Given the description of an element on the screen output the (x, y) to click on. 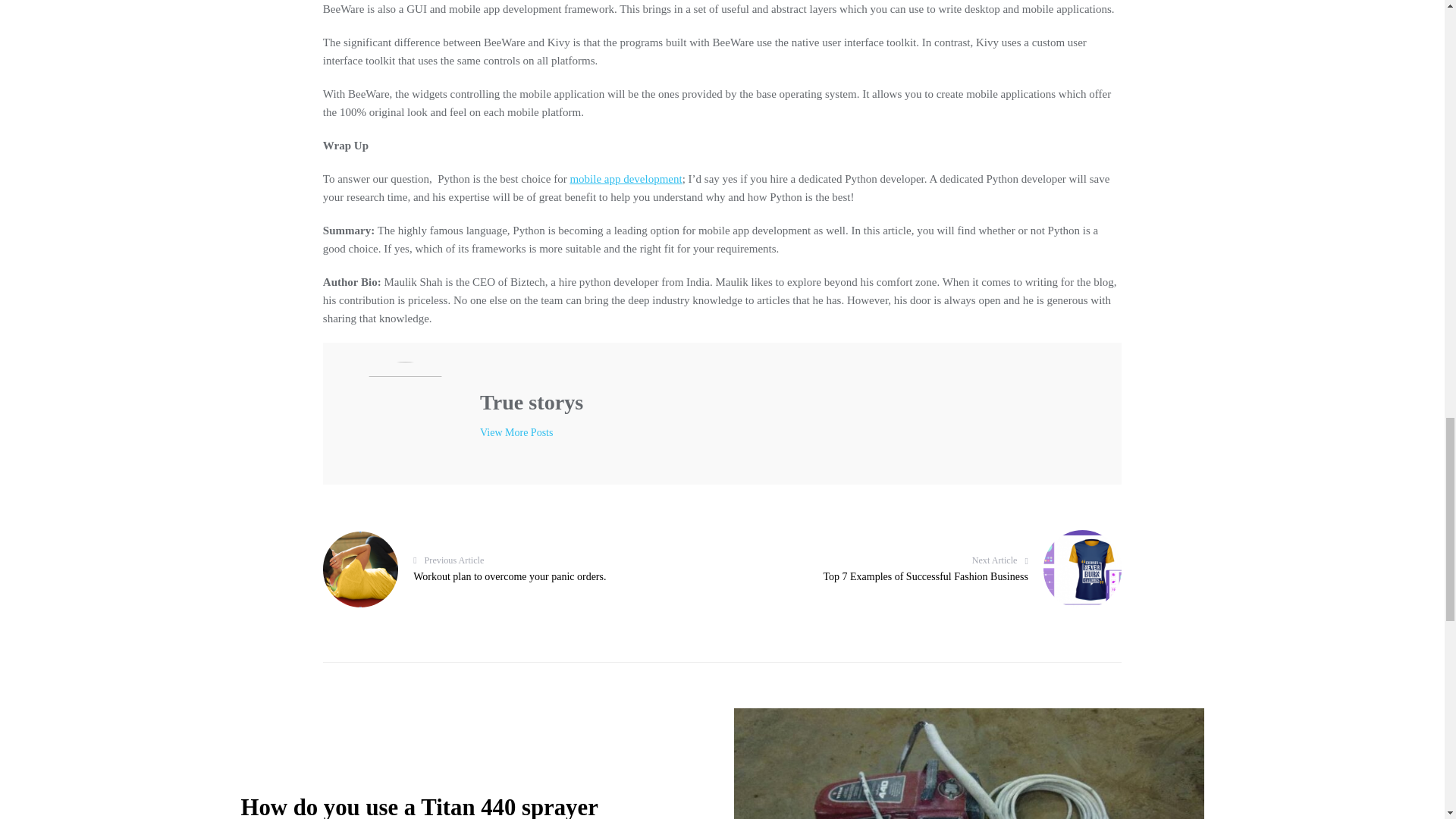
View More Posts (516, 432)
mobile app development (511, 568)
How do you use a Titan 440 sprayer (625, 178)
